Given the description of an element on the screen output the (x, y) to click on. 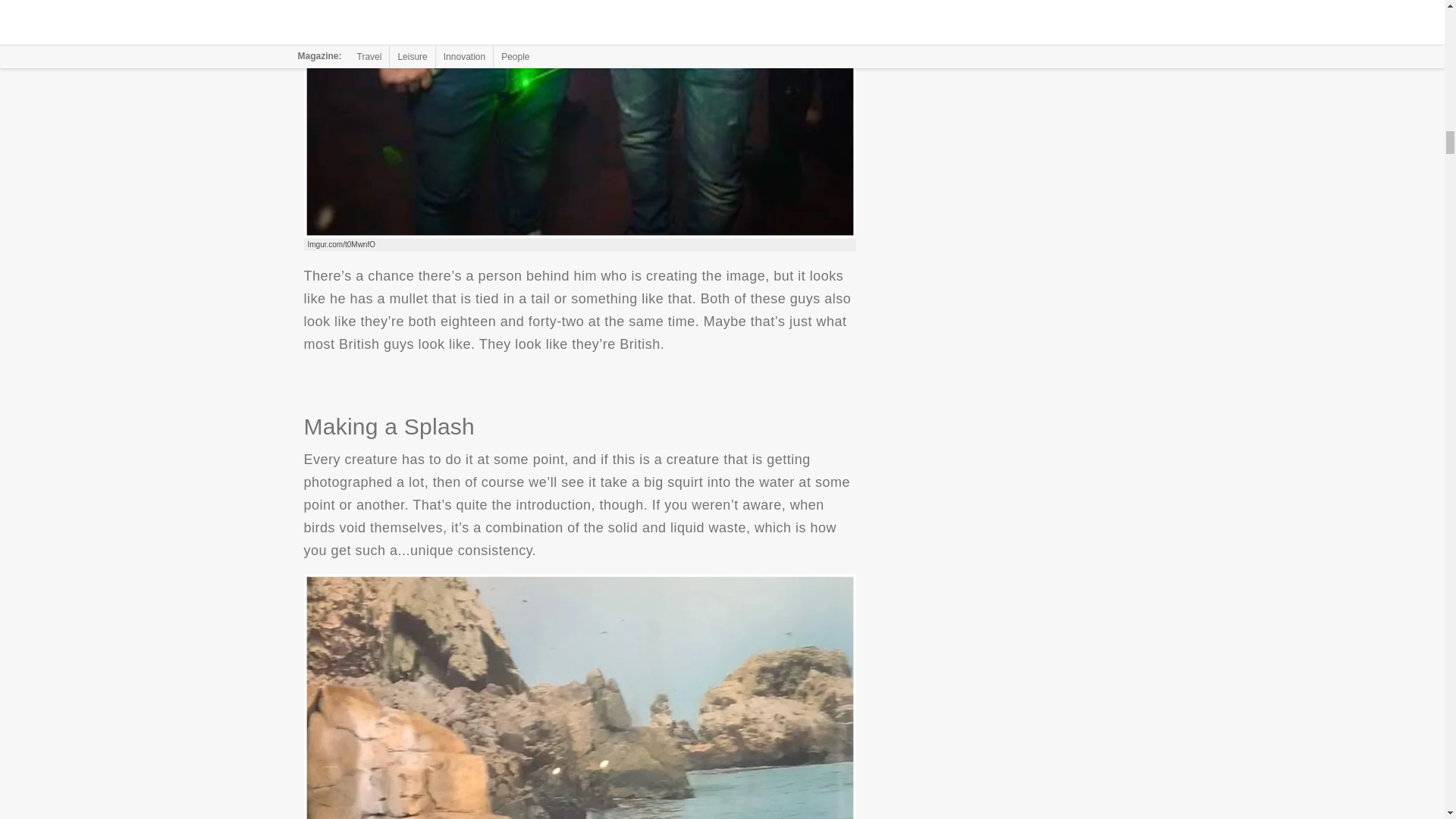
Target Acquired (579, 119)
